Given the description of an element on the screen output the (x, y) to click on. 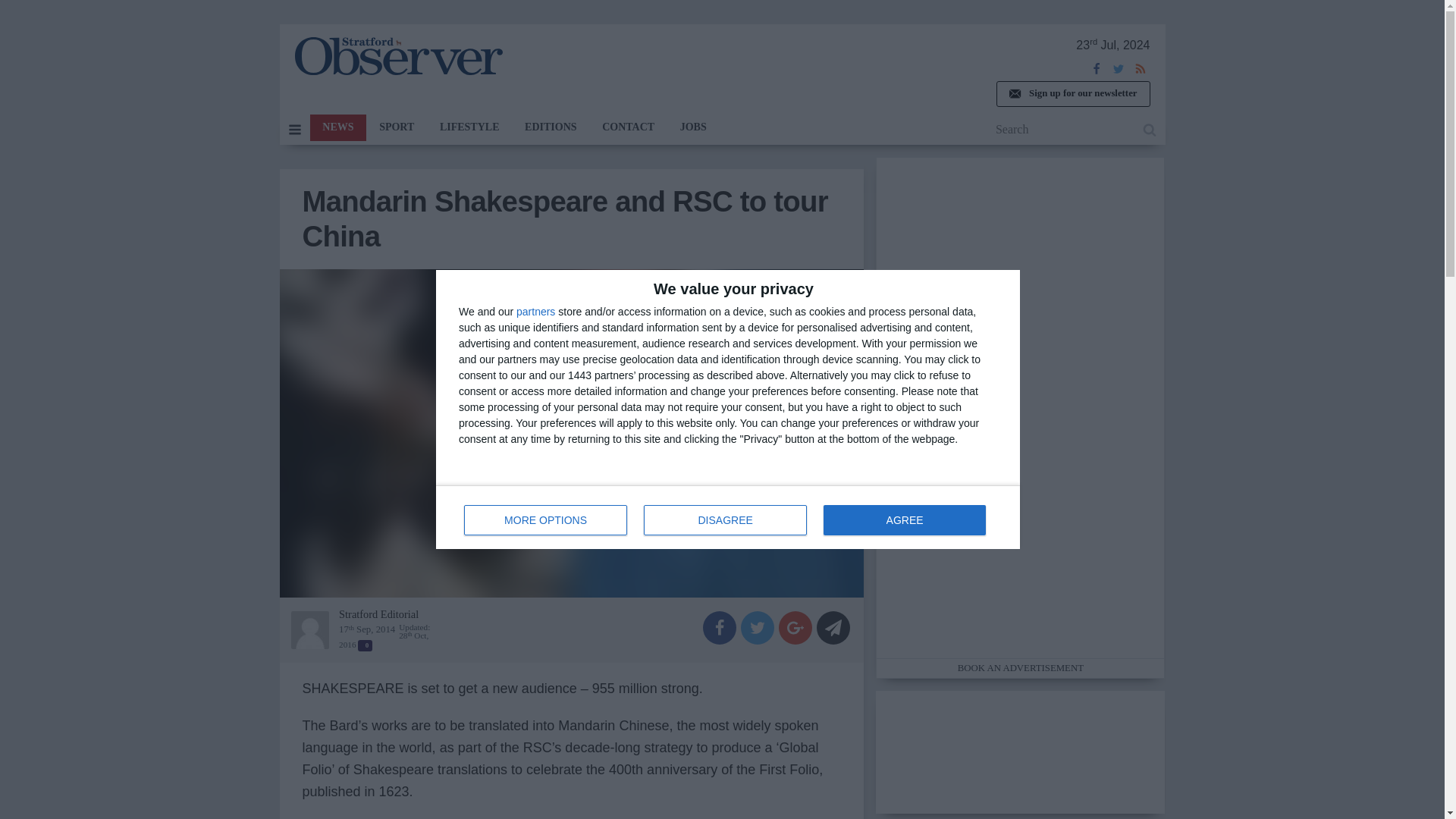
The Stratford Observer (398, 55)
MORE OPTIONS (545, 520)
  Sign up for our newsletter (1072, 94)
LIFESTYLE (469, 127)
NEWS (727, 516)
SPORT (337, 127)
AGREE (396, 127)
partners (904, 520)
DISAGREE (535, 311)
